Given the description of an element on the screen output the (x, y) to click on. 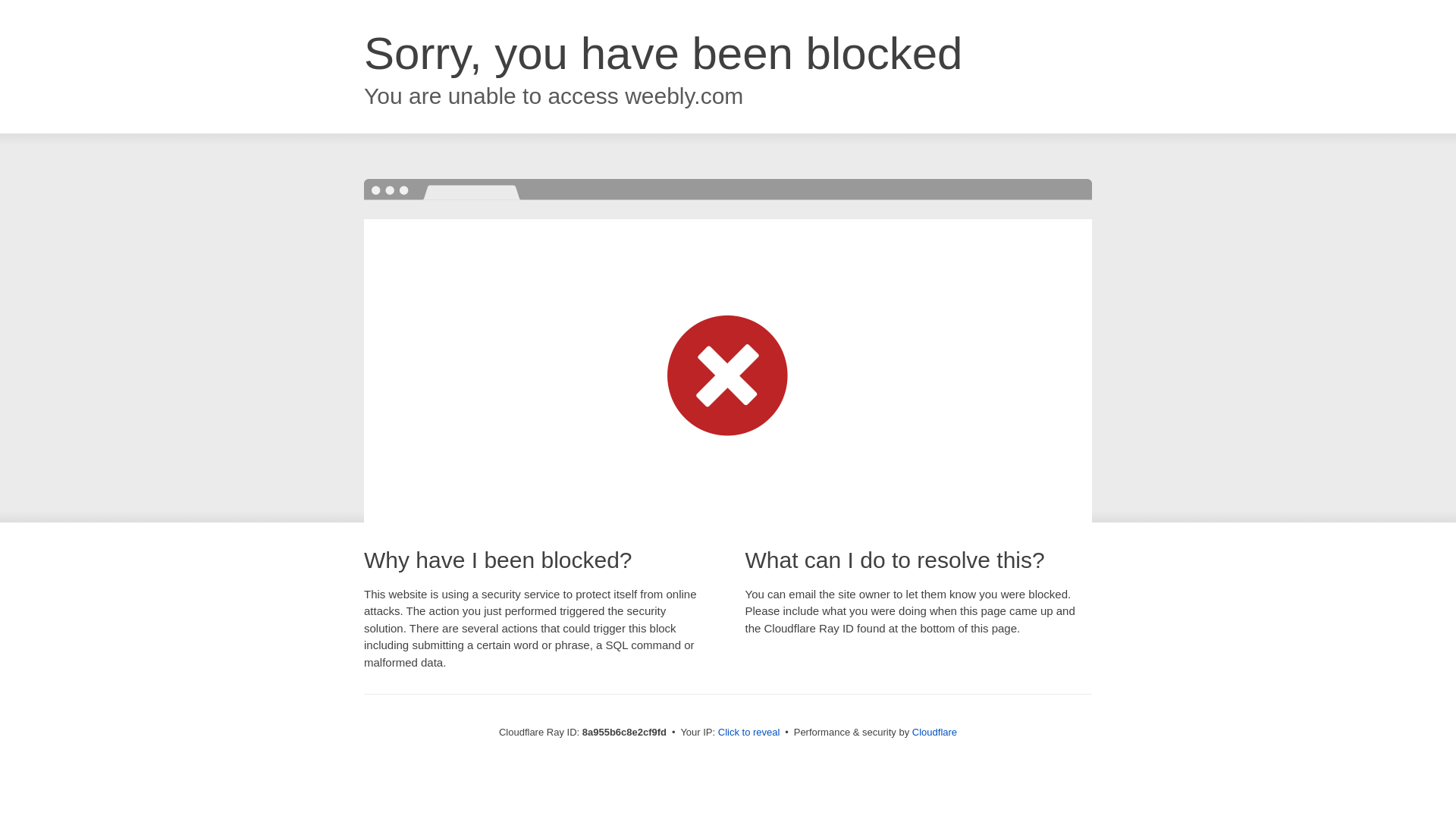
Cloudflare (934, 731)
Click to reveal (748, 732)
